Given the description of an element on the screen output the (x, y) to click on. 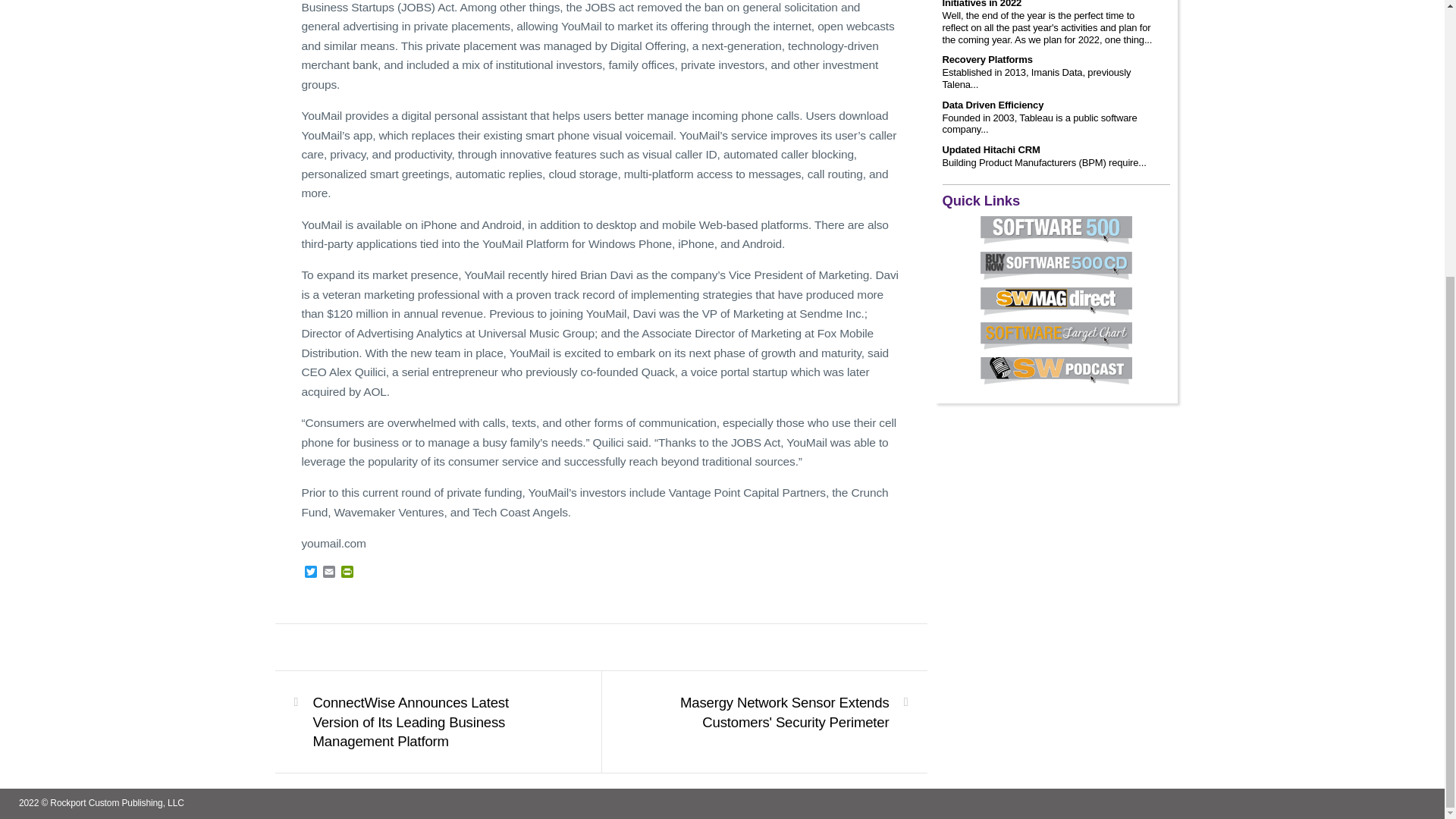
Previous (428, 721)
Email (328, 572)
PrintFriendly (346, 572)
Data Driven Efficiency (992, 104)
Updated Hitachi CRM (990, 149)
PrintFriendly (346, 572)
Recovery Platforms (987, 59)
Masergy Network Sensor Extends Customers' Security Perimeter (773, 712)
Twitter (310, 572)
Next (773, 712)
Twitter (310, 572)
Email (328, 572)
